Given the description of an element on the screen output the (x, y) to click on. 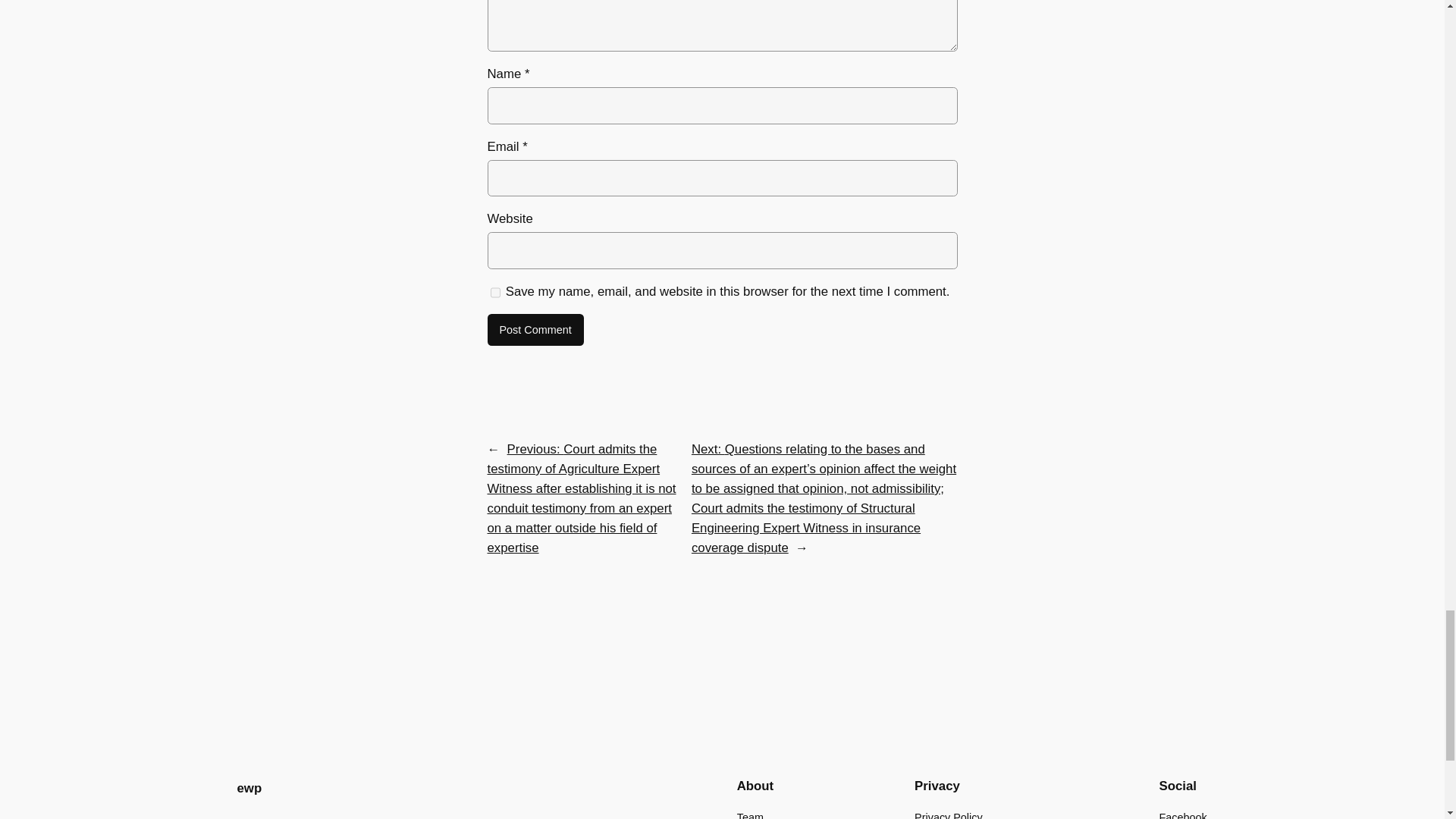
Facebook (1182, 814)
ewp (248, 788)
Post Comment (534, 329)
Privacy Policy (948, 814)
Team (749, 814)
Post Comment (534, 329)
